Given the description of an element on the screen output the (x, y) to click on. 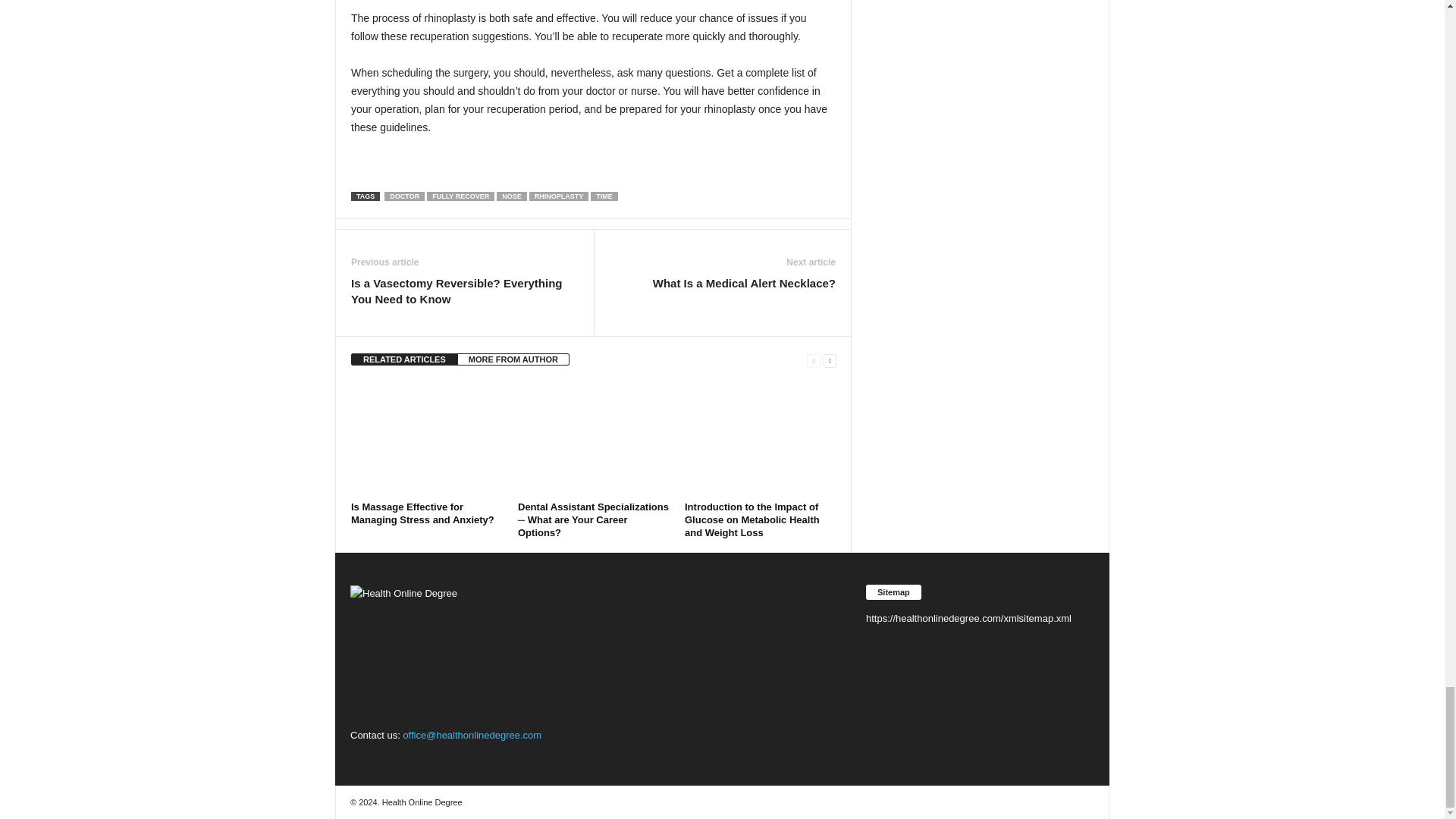
FULLY RECOVER (460, 195)
Is Massage Effective for Managing Stress and Anxiety? (426, 439)
What Is a Medical Alert Necklace? (743, 283)
Is Massage Effective for Managing Stress and Anxiety? (422, 513)
MORE FROM AUTHOR (513, 358)
RELATED ARTICLES (404, 358)
TIME (604, 195)
NOSE (511, 195)
DOCTOR (404, 195)
